Given the description of an element on the screen output the (x, y) to click on. 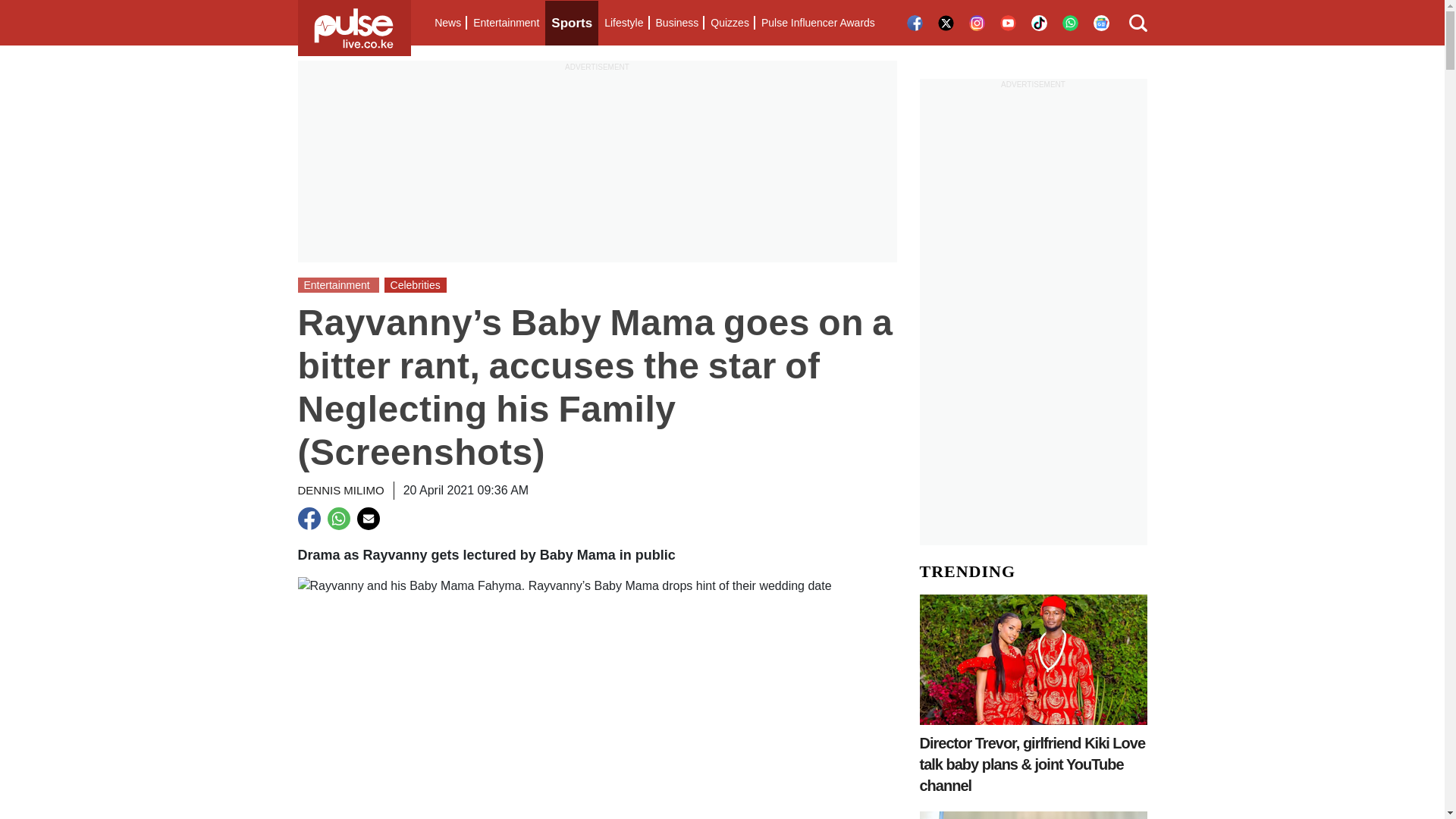
Pulse Influencer Awards (817, 22)
Sports (571, 22)
Quizzes (729, 22)
Lifestyle (623, 22)
Business (676, 22)
Entertainment (505, 22)
